Given the description of an element on the screen output the (x, y) to click on. 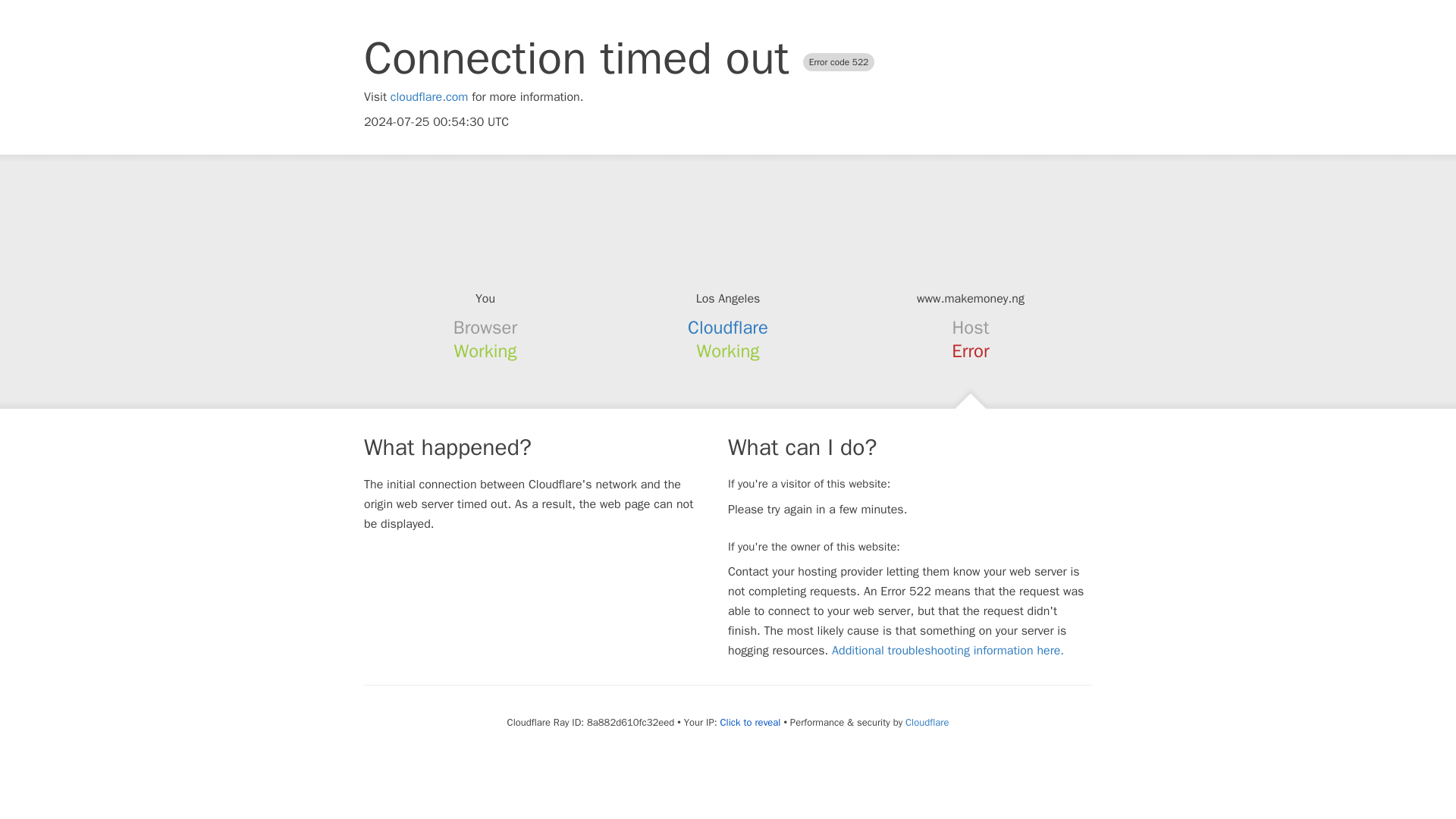
cloudflare.com (429, 96)
Cloudflare (727, 327)
Additional troubleshooting information here. (947, 650)
Click to reveal (750, 722)
Cloudflare (927, 721)
